Given the description of an element on the screen output the (x, y) to click on. 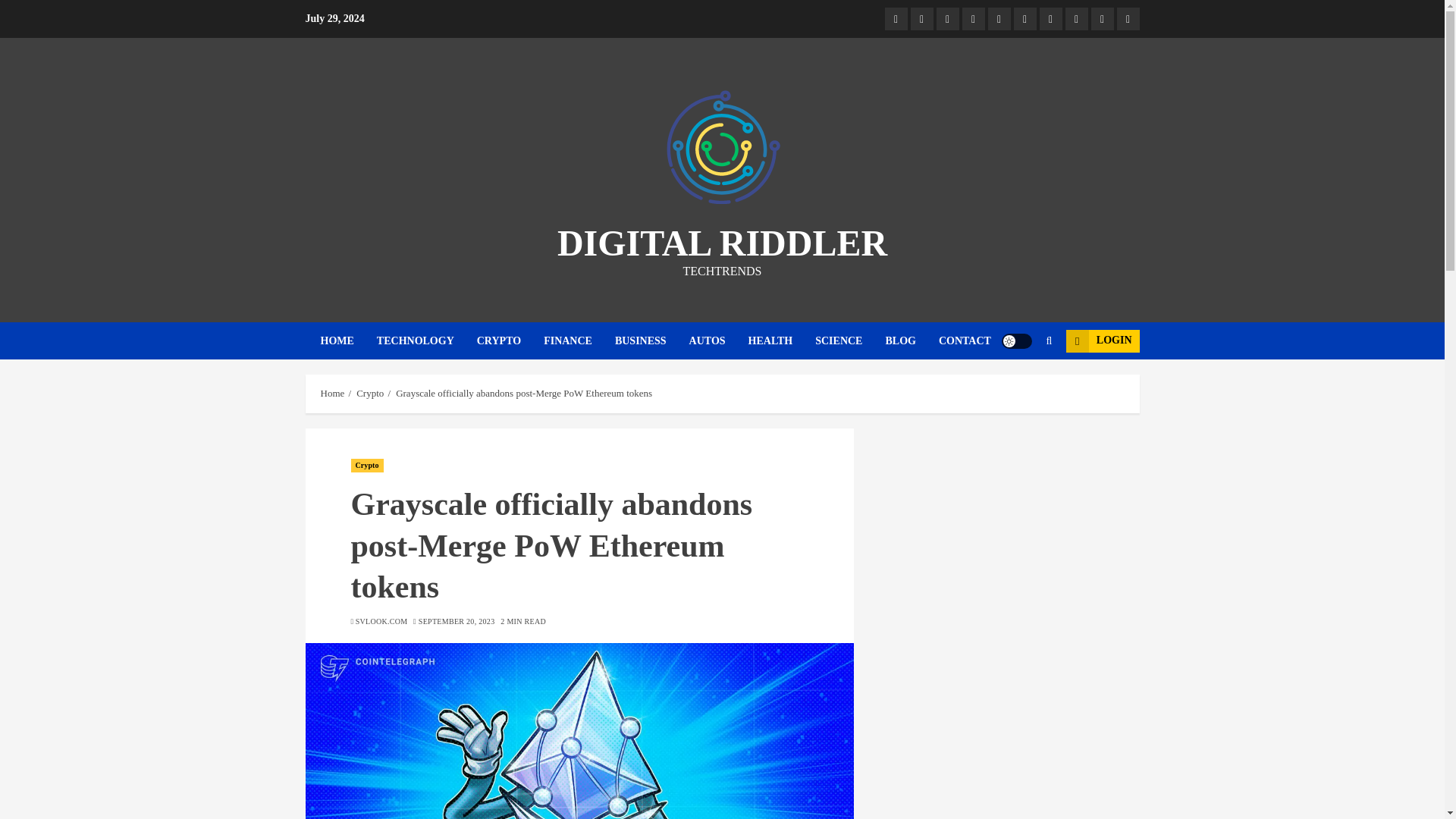
AUTOS (718, 340)
BUSINESS (651, 340)
HEALTH (781, 340)
DIGITAL RIDDLER (721, 242)
TECHNOLOGY (427, 340)
HOME (347, 340)
CRYPTO (510, 340)
FINANCE (578, 340)
SCIENCE (850, 340)
Grayscale officially abandons post-Merge PoW Ethereum tokens (578, 730)
